Given the description of an element on the screen output the (x, y) to click on. 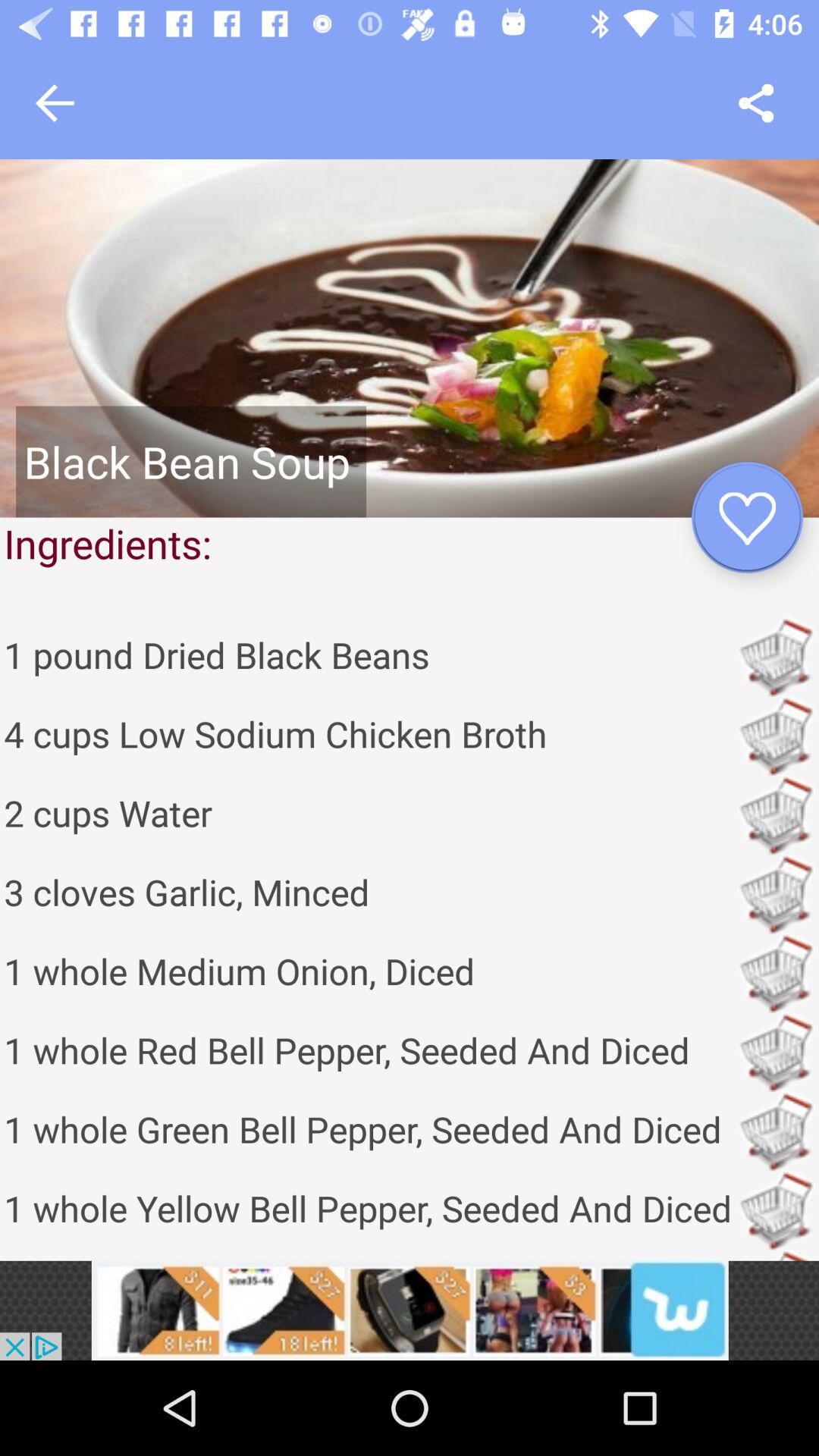
select advertisement (409, 1310)
